Given the description of an element on the screen output the (x, y) to click on. 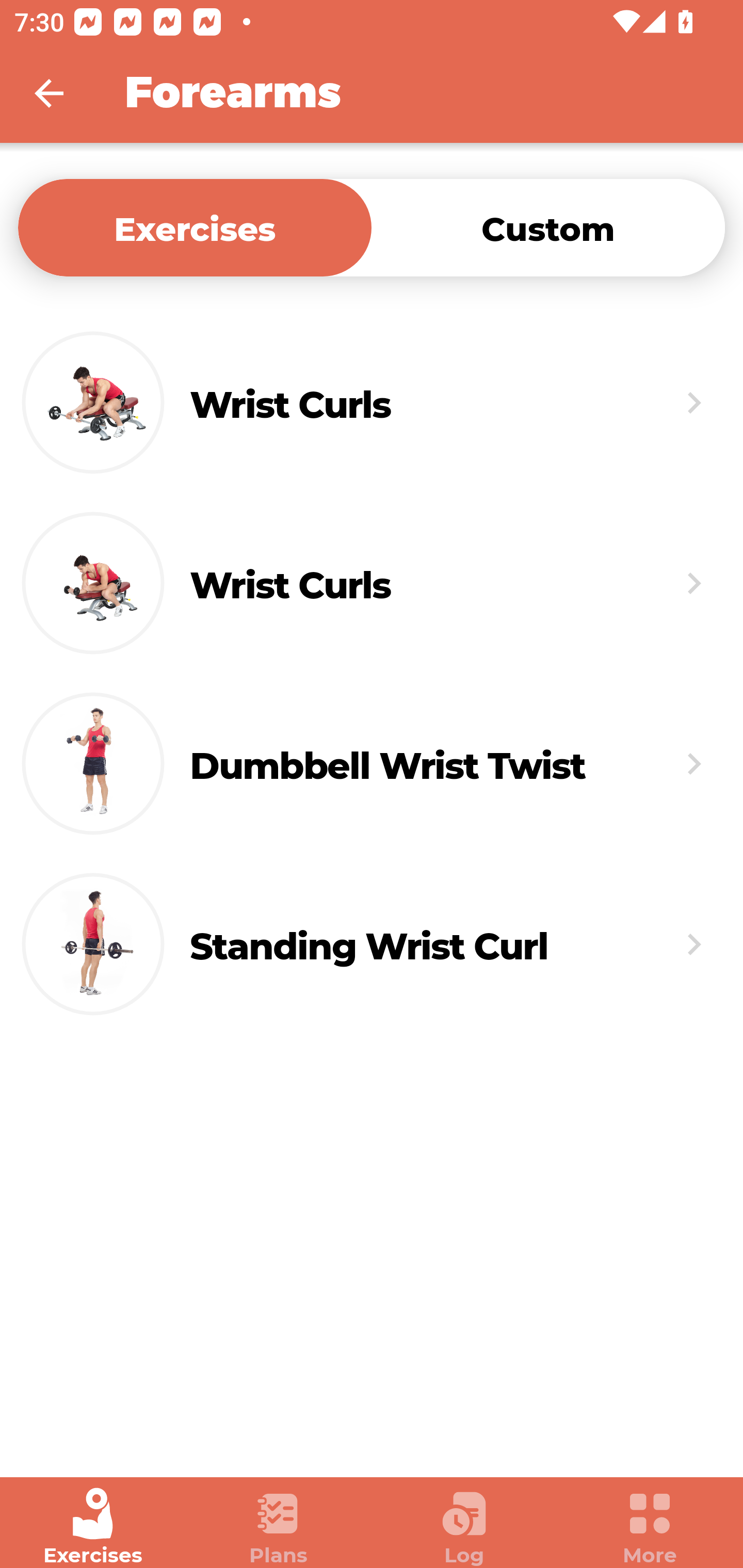
Back (62, 92)
Exercises (194, 226)
Custom (548, 226)
Exercises (92, 1527)
Plans (278, 1527)
Log (464, 1527)
More (650, 1527)
